Given the description of an element on the screen output the (x, y) to click on. 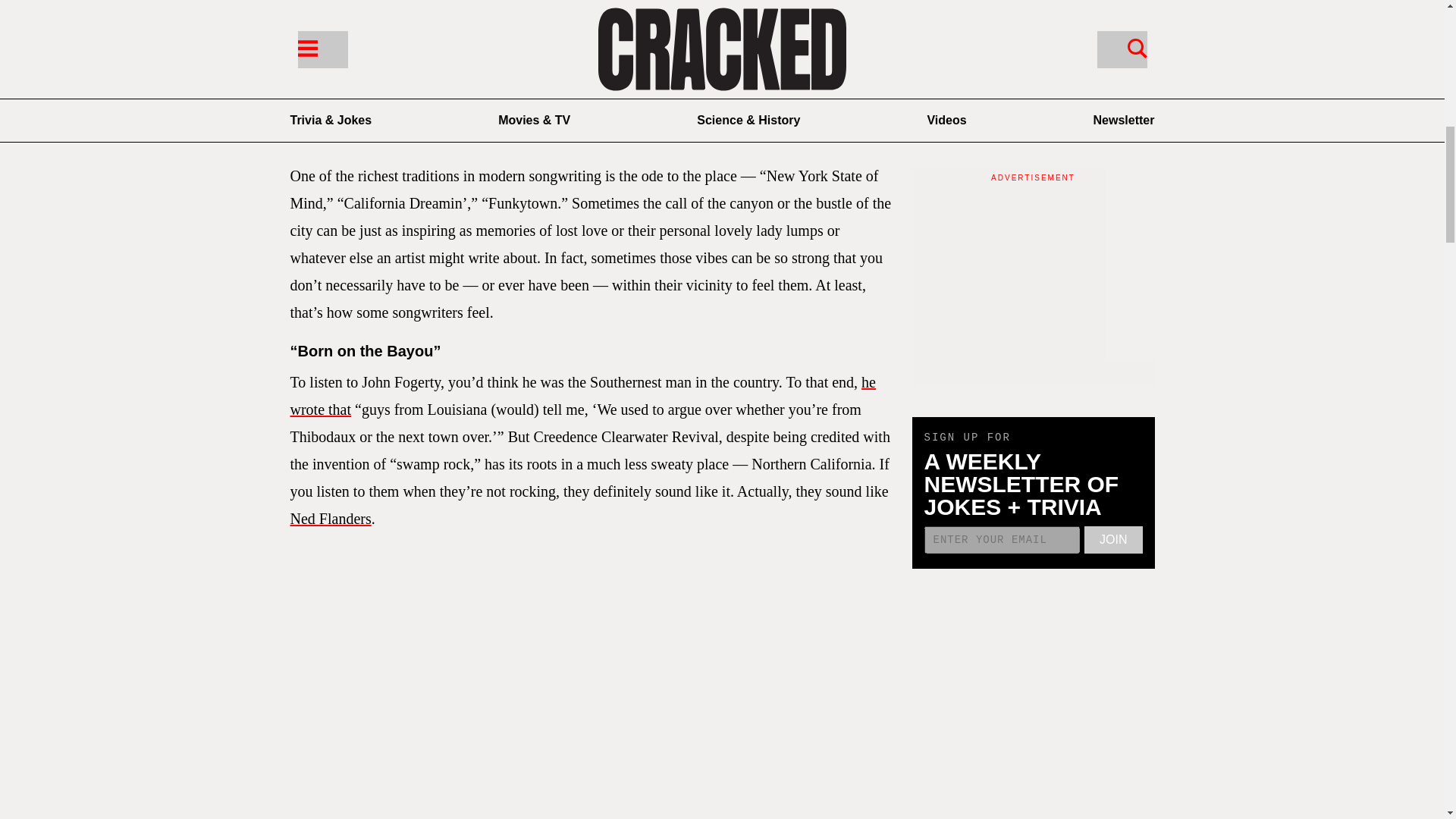
Ned Flanders (330, 518)
Amanda Mannen (387, 108)
he wrote that (582, 395)
